Given the description of an element on the screen output the (x, y) to click on. 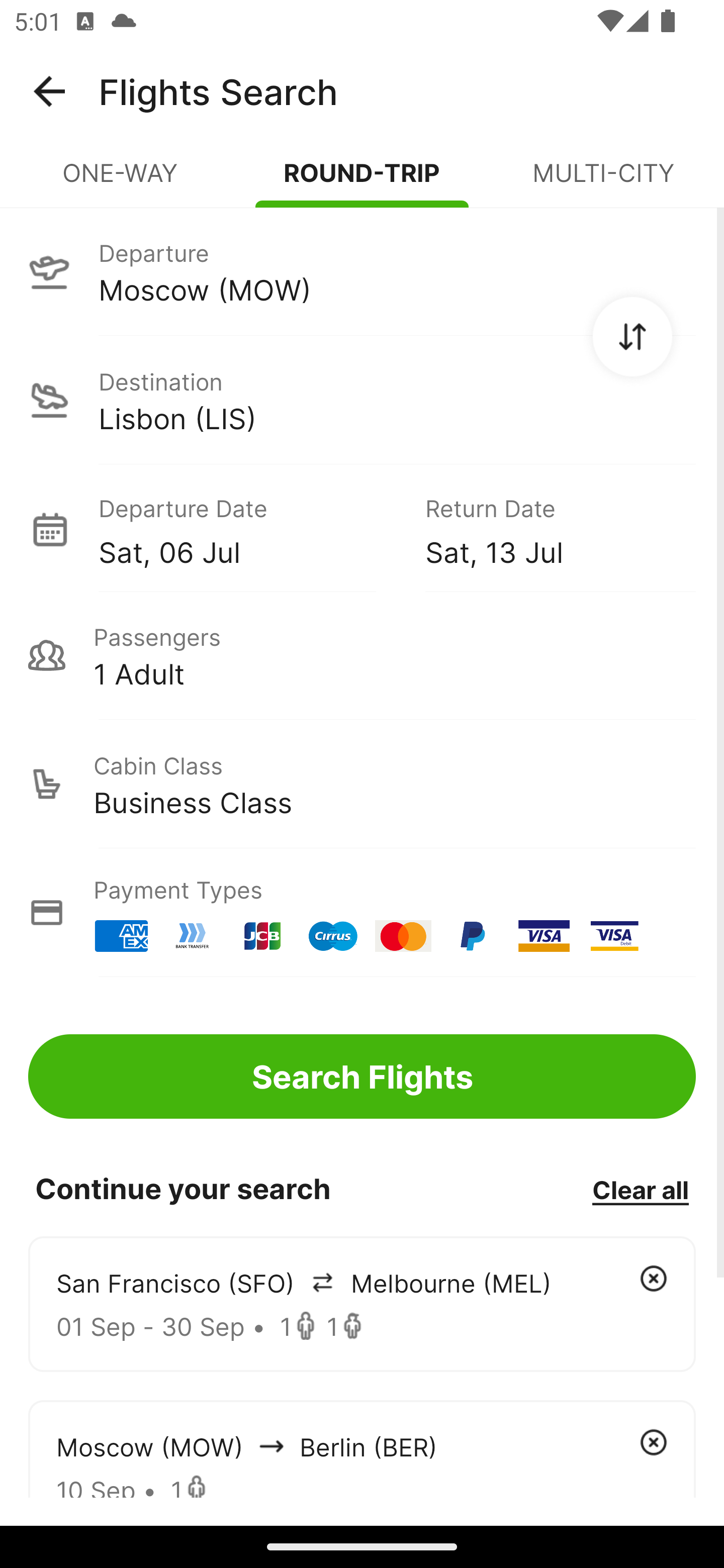
ONE-WAY (120, 180)
ROUND-TRIP (361, 180)
MULTI-CITY (603, 180)
Departure Moscow (MOW) (362, 270)
Destination Lisbon (LIS) (362, 400)
Departure Date Sat, 06 Jul (247, 528)
Return Date Sat, 13 Jul (546, 528)
Passengers 1 Adult (362, 655)
Cabin Class Business Class (362, 783)
Payment Types (362, 912)
Search Flights (361, 1075)
Clear all (640, 1189)
Moscow (MOW)  arrowIcon  Berlin (BER) 10 Sep •  1  (361, 1448)
